Given the description of an element on the screen output the (x, y) to click on. 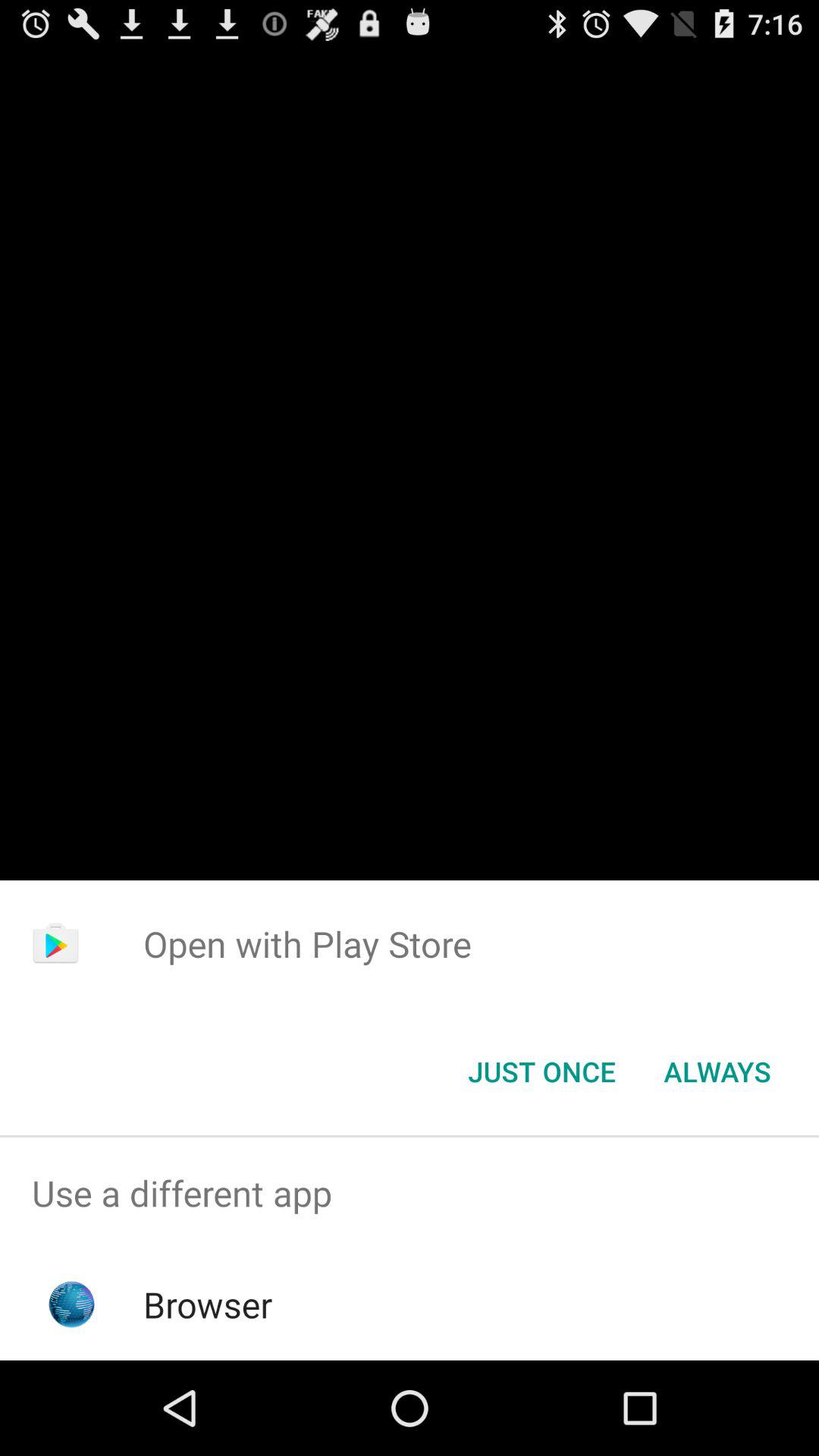
choose just once icon (541, 1071)
